Given the description of an element on the screen output the (x, y) to click on. 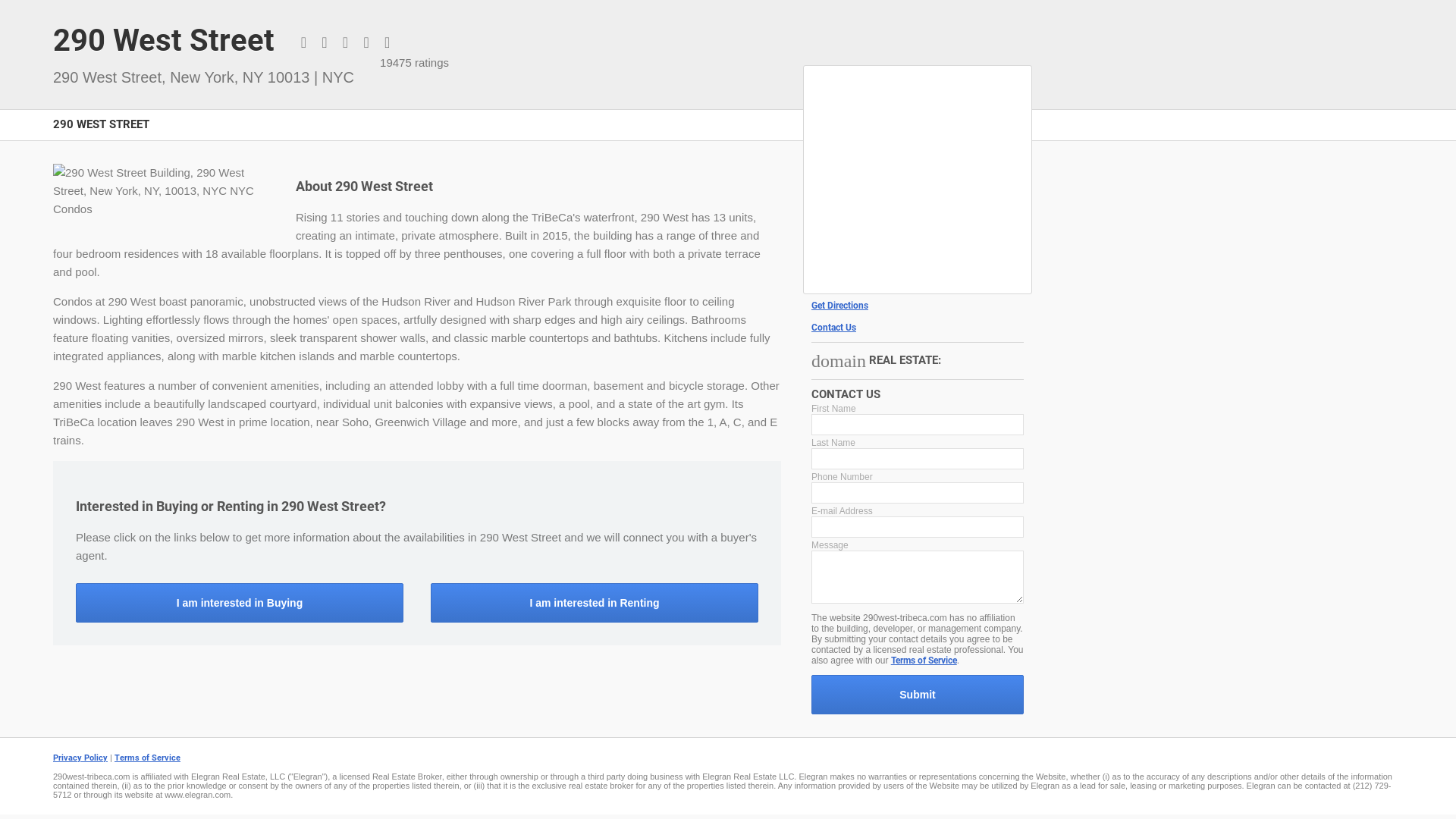
Privacy Policy Element type: text (80, 757)
Submit Element type: text (917, 694)
Get Directions Element type: text (917, 305)
I am interested in Buying Element type: text (239, 602)
Terms of Service Element type: text (924, 660)
290 WEST STREET Element type: text (101, 132)
Contact Us Element type: text (917, 327)
I am interested in Renting Element type: text (594, 602)
Terms of Service Element type: text (147, 757)
